Given the description of an element on the screen output the (x, y) to click on. 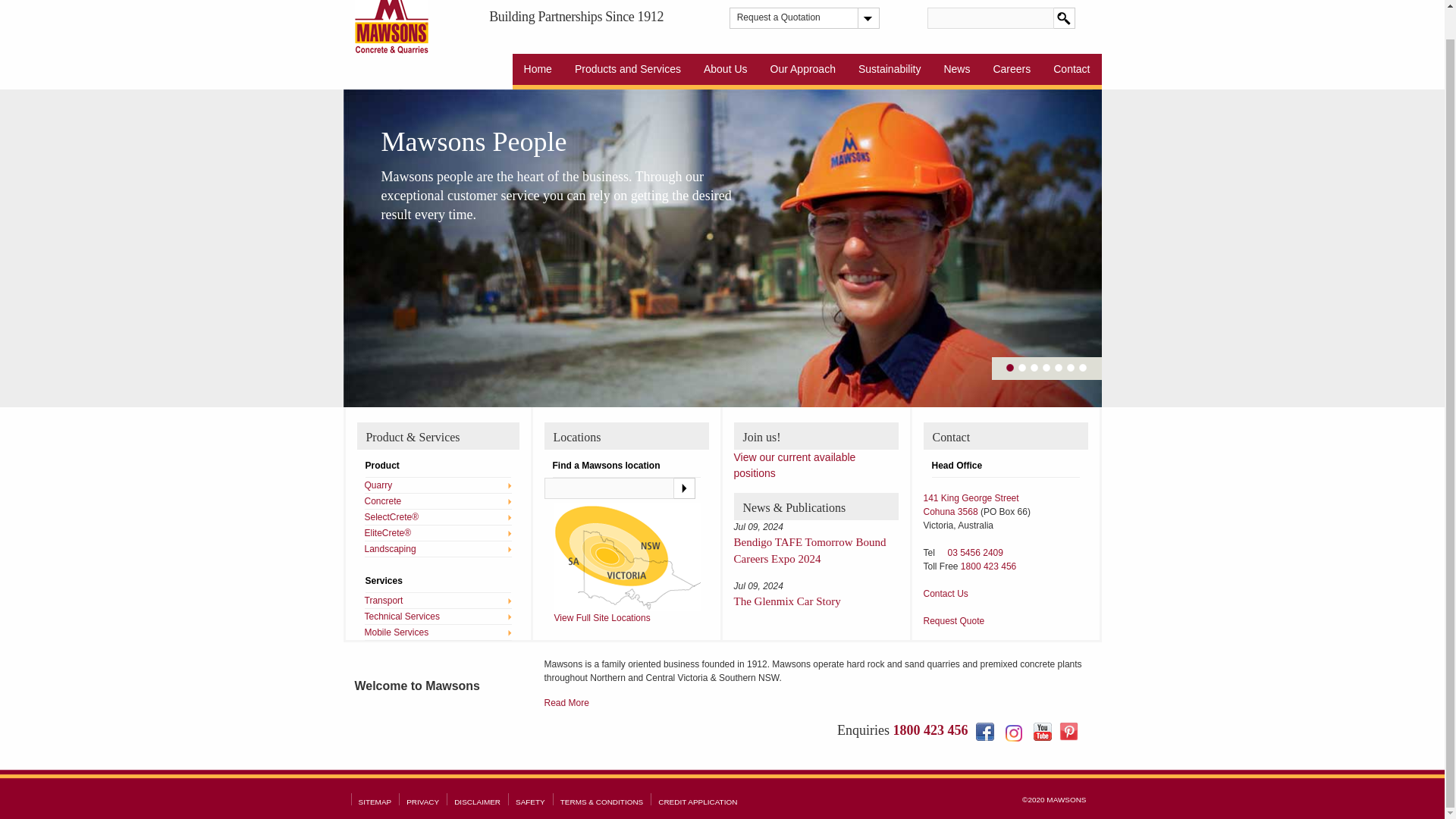
Mawsons Facebook Page (983, 731)
About Us (725, 71)
Request a Quotation (796, 17)
News (956, 71)
Sustainability (890, 71)
Credit Application (697, 801)
Our Approach (802, 71)
Mawsons Instagram Page (1013, 733)
Careers (1011, 71)
Products and Services (628, 71)
Mawsons Pinterest Page (1067, 731)
Mawsons YouTube Channel (1041, 731)
Home (537, 71)
